Given the description of an element on the screen output the (x, y) to click on. 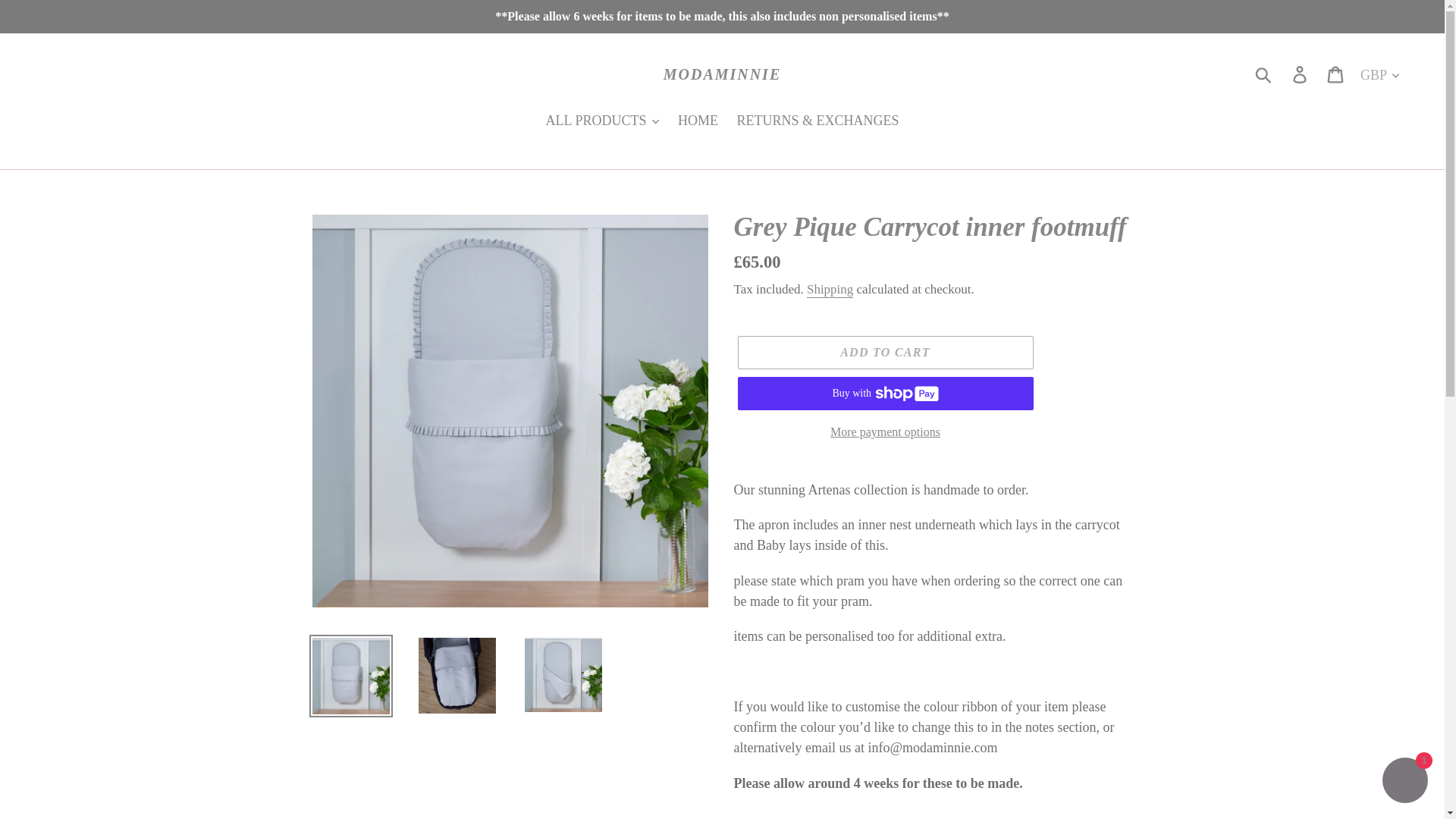
MODAMINNIE (721, 74)
Log in (1300, 73)
Shopify online store chat (1404, 781)
Cart (1336, 73)
Submit (1264, 73)
